Given the description of an element on the screen output the (x, y) to click on. 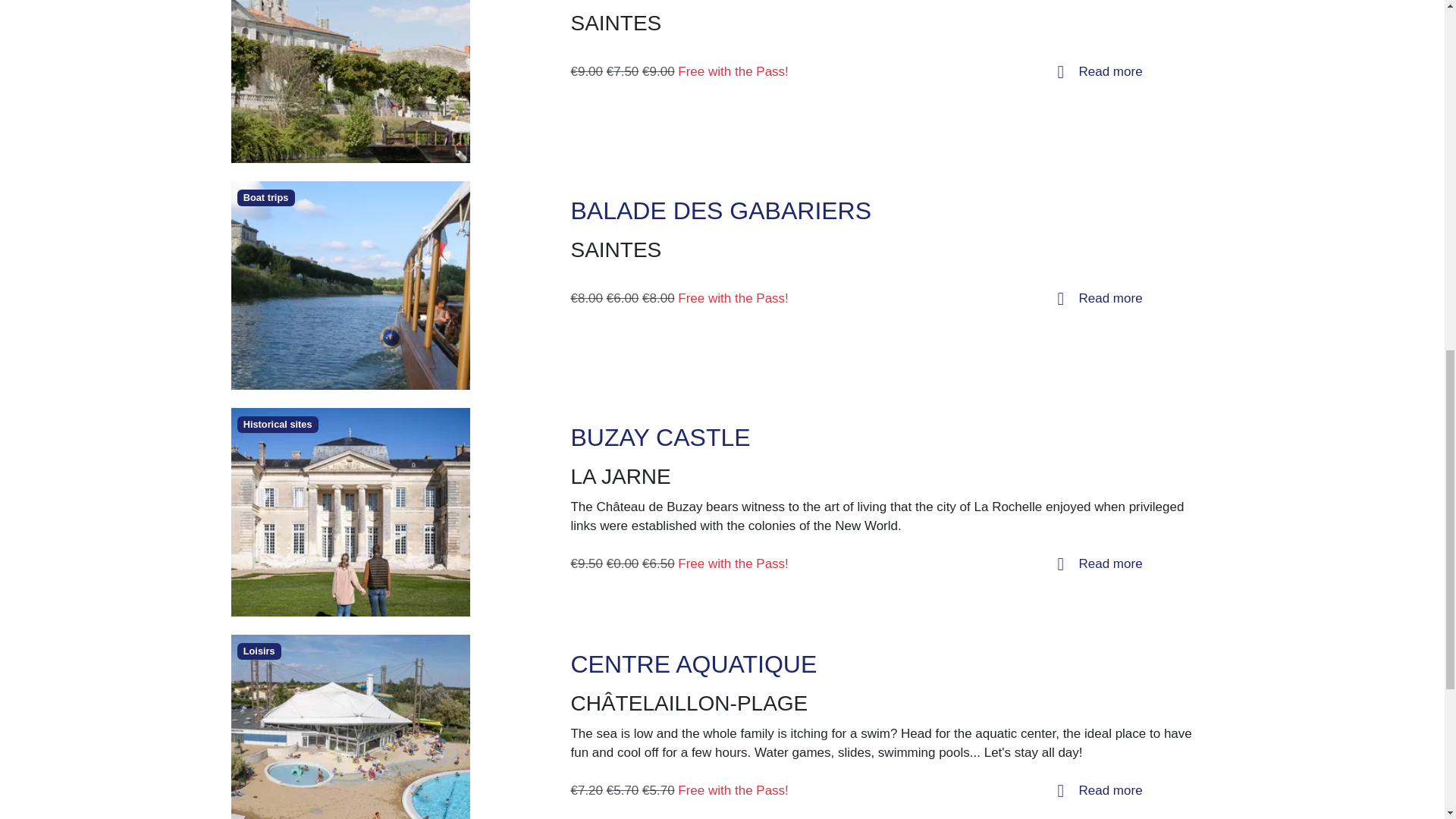
Public price : Tarif Enfant (623, 71)
Public price : Tarif Enfant (623, 563)
Public price : Tarif Adulte (586, 71)
Public price : Tarif Enfant (623, 298)
Public price : Tarif Ados (658, 298)
Public price : Tarif Ados (658, 71)
Public price : Tarif Adulte (586, 298)
Public price : Tarif Adulte (586, 563)
